Given the description of an element on the screen output the (x, y) to click on. 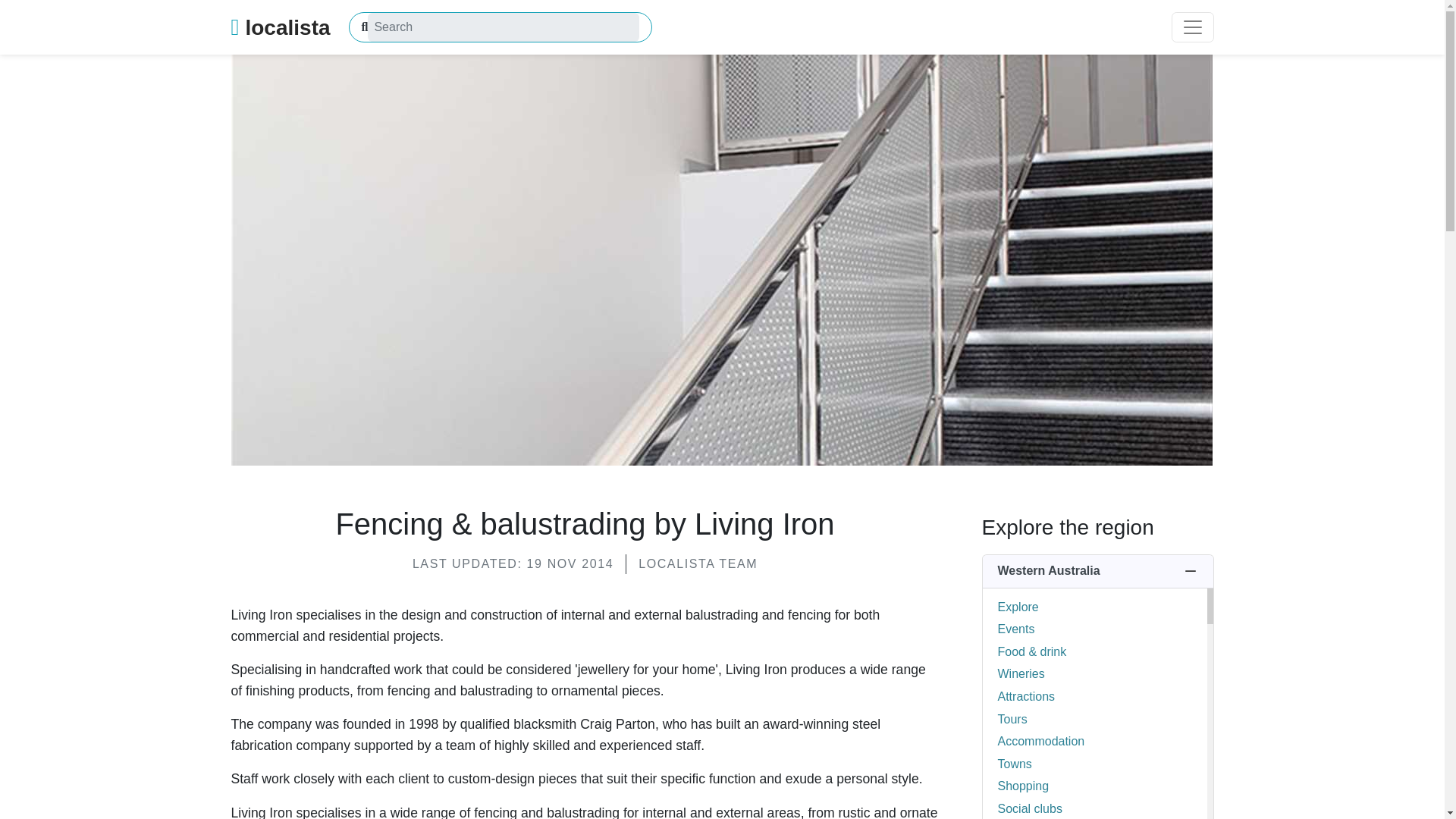
Attractions (1026, 696)
Towns (1014, 763)
Social clubs (1029, 808)
Explore (1018, 606)
Tours (1012, 718)
Accommodation (1040, 740)
Events (1016, 628)
Western Australia (1097, 571)
Wineries (1021, 673)
localista (280, 26)
